Given the description of an element on the screen output the (x, y) to click on. 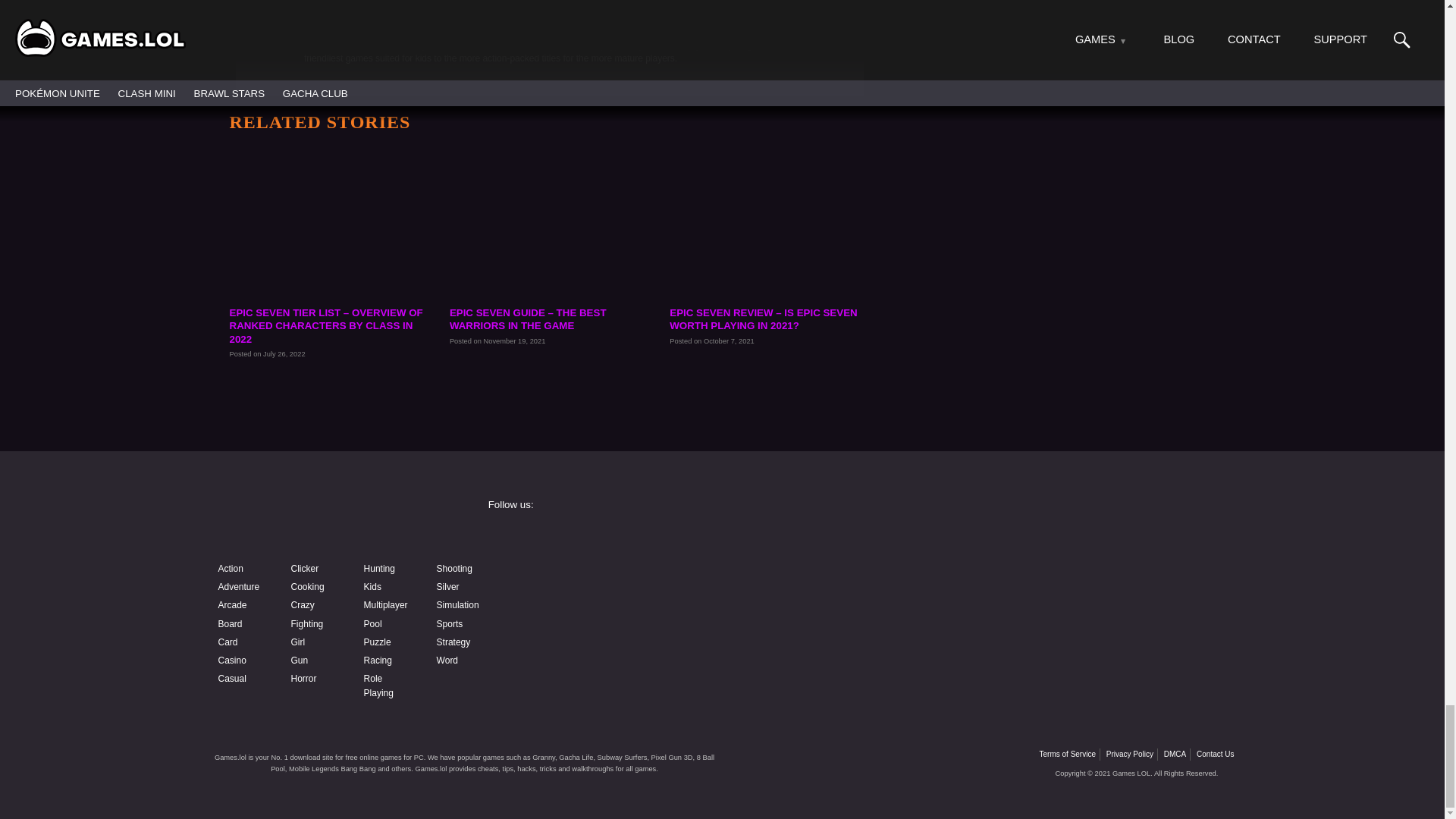
YouTube (603, 578)
Reddit (603, 619)
Games.lol free game download website logo (319, 519)
Twitter (1073, 539)
Facebook (603, 539)
Instagram (838, 539)
Pinterest (1073, 578)
Discord (838, 578)
